Given the description of an element on the screen output the (x, y) to click on. 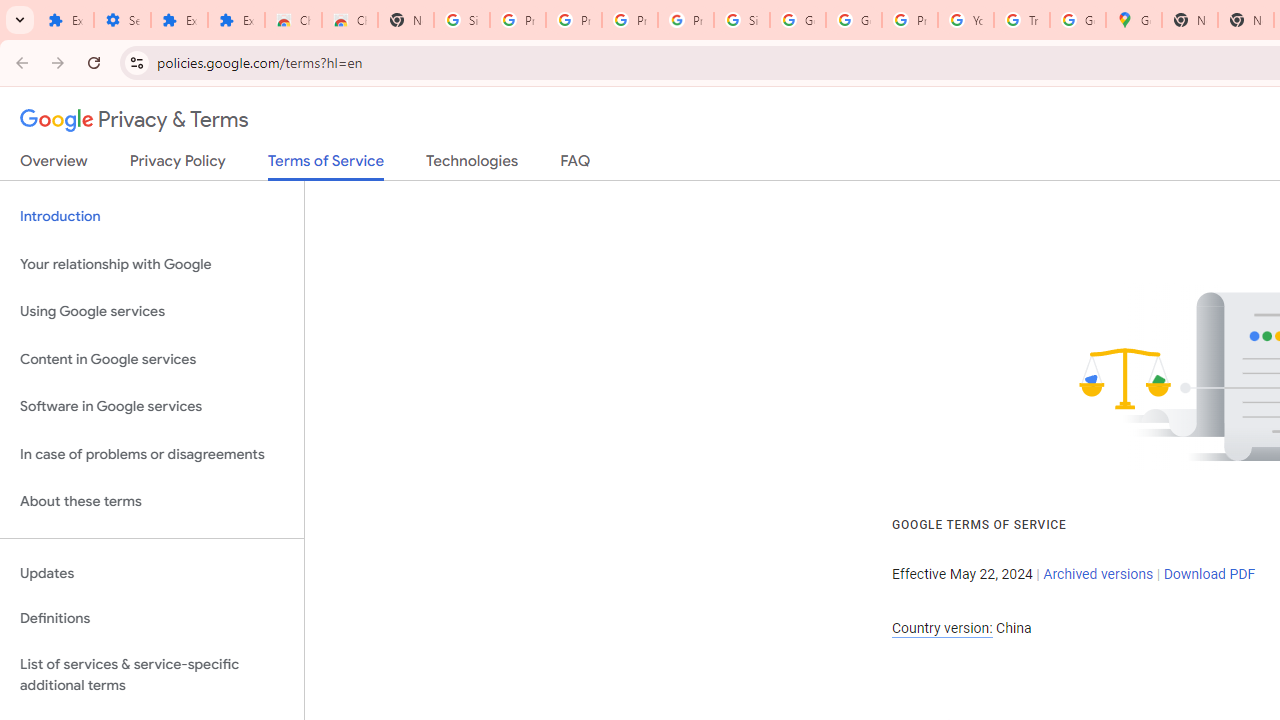
New Tab (405, 20)
Chrome Web Store (293, 20)
Sign in - Google Accounts (461, 20)
Country version: (942, 628)
FAQ (575, 165)
Sign in - Google Accounts (742, 20)
Terms of Service (326, 166)
Overview (54, 165)
New Tab (1190, 20)
About these terms (152, 502)
